Given the description of an element on the screen output the (x, y) to click on. 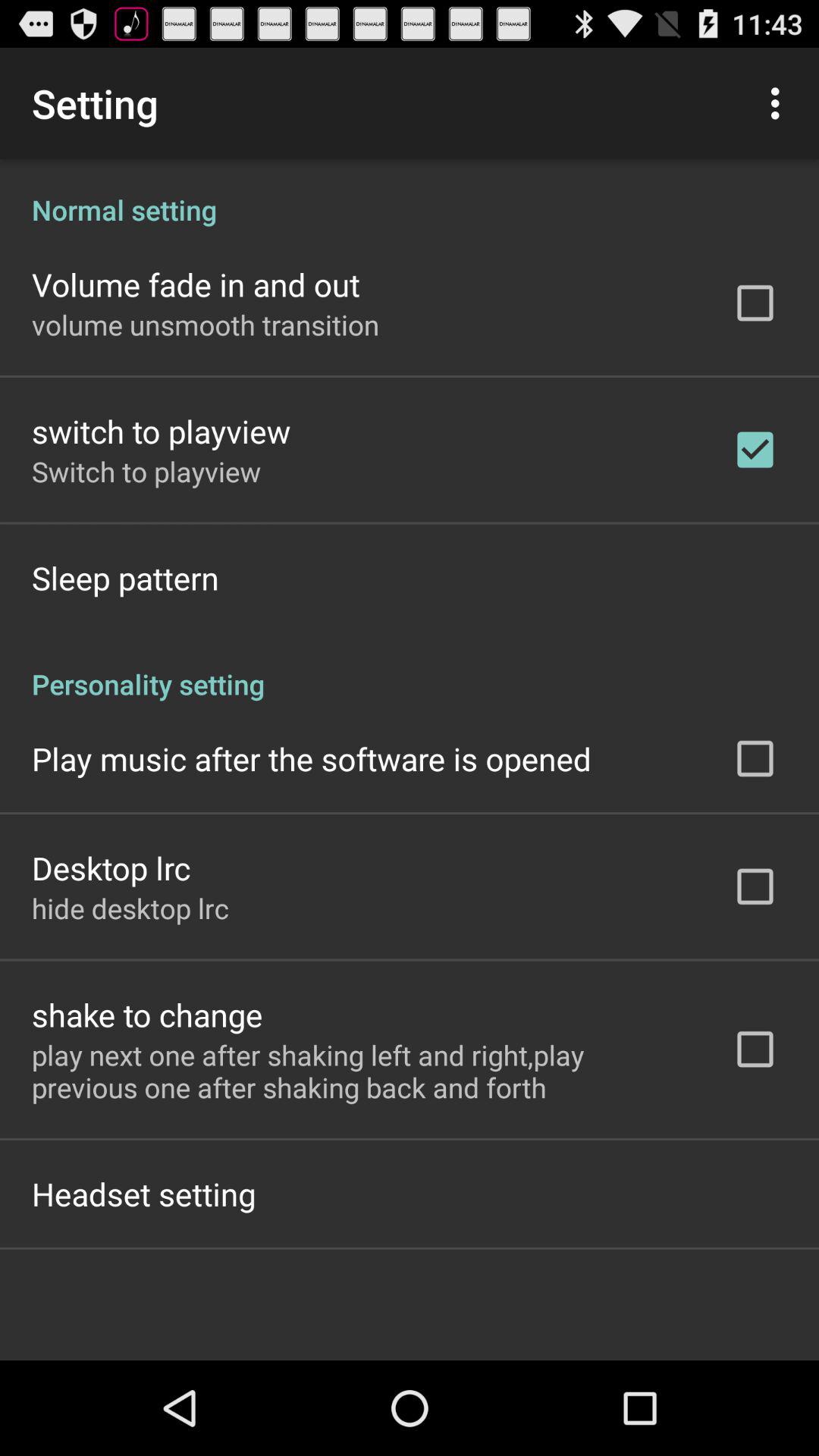
turn on normal setting app (409, 193)
